Given the description of an element on the screen output the (x, y) to click on. 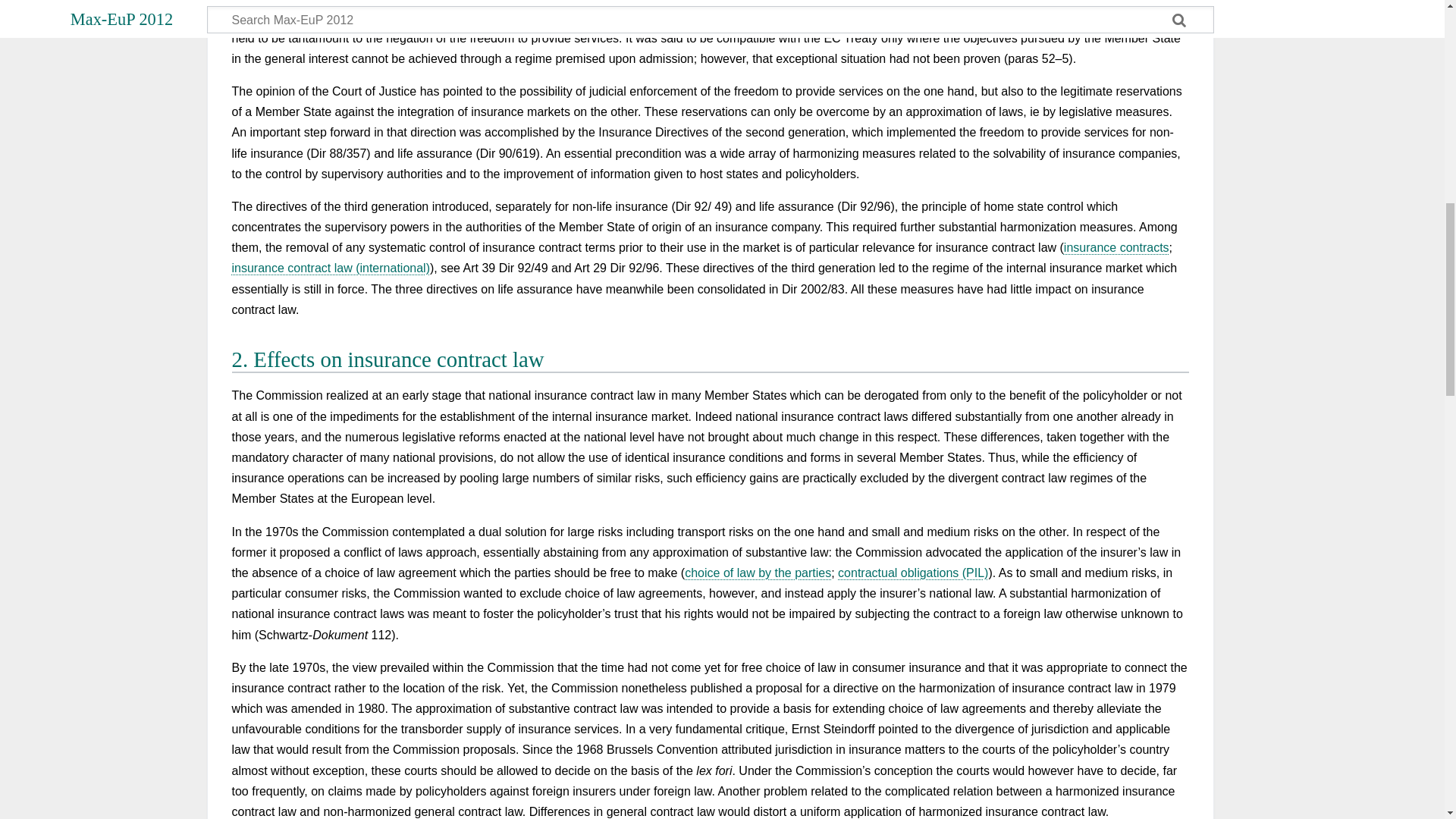
insurance contracts (1116, 246)
choice of law by the parties (757, 572)
Insurance Contracts (1116, 246)
